Given the description of an element on the screen output the (x, y) to click on. 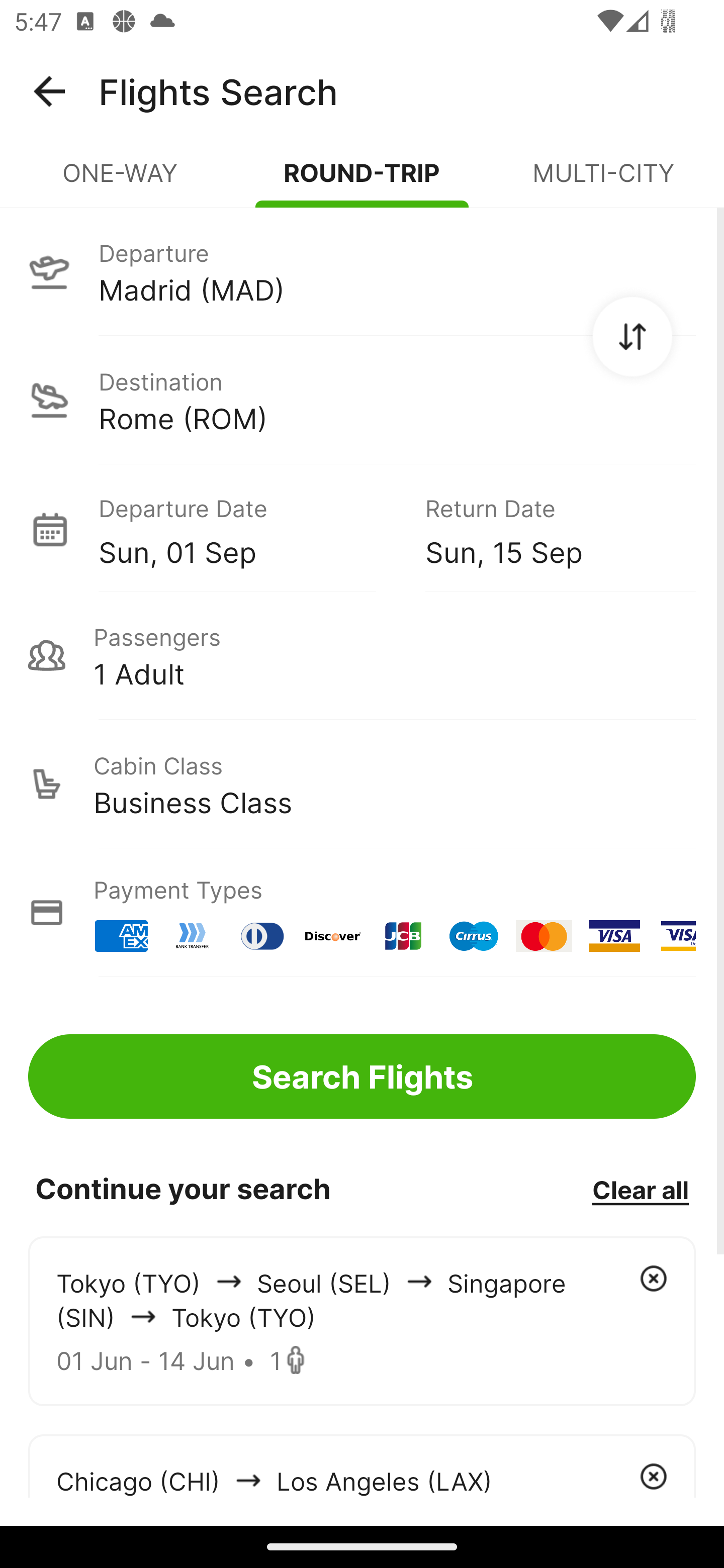
ONE-WAY (120, 180)
ROUND-TRIP (361, 180)
MULTI-CITY (603, 180)
Departure Madrid (MAD) (362, 270)
Destination Rome (ROM) (362, 400)
Departure Date Sun, 01 Sep (247, 528)
Return Date Sun, 15 Sep (546, 528)
Passengers 1 Adult (362, 655)
Cabin Class Business Class (362, 783)
Payment Types (362, 912)
Search Flights (361, 1075)
Clear all (640, 1189)
Chicago (CHI)  arrowIcon  Los Angeles (LAX) (361, 1465)
